Given the description of an element on the screen output the (x, y) to click on. 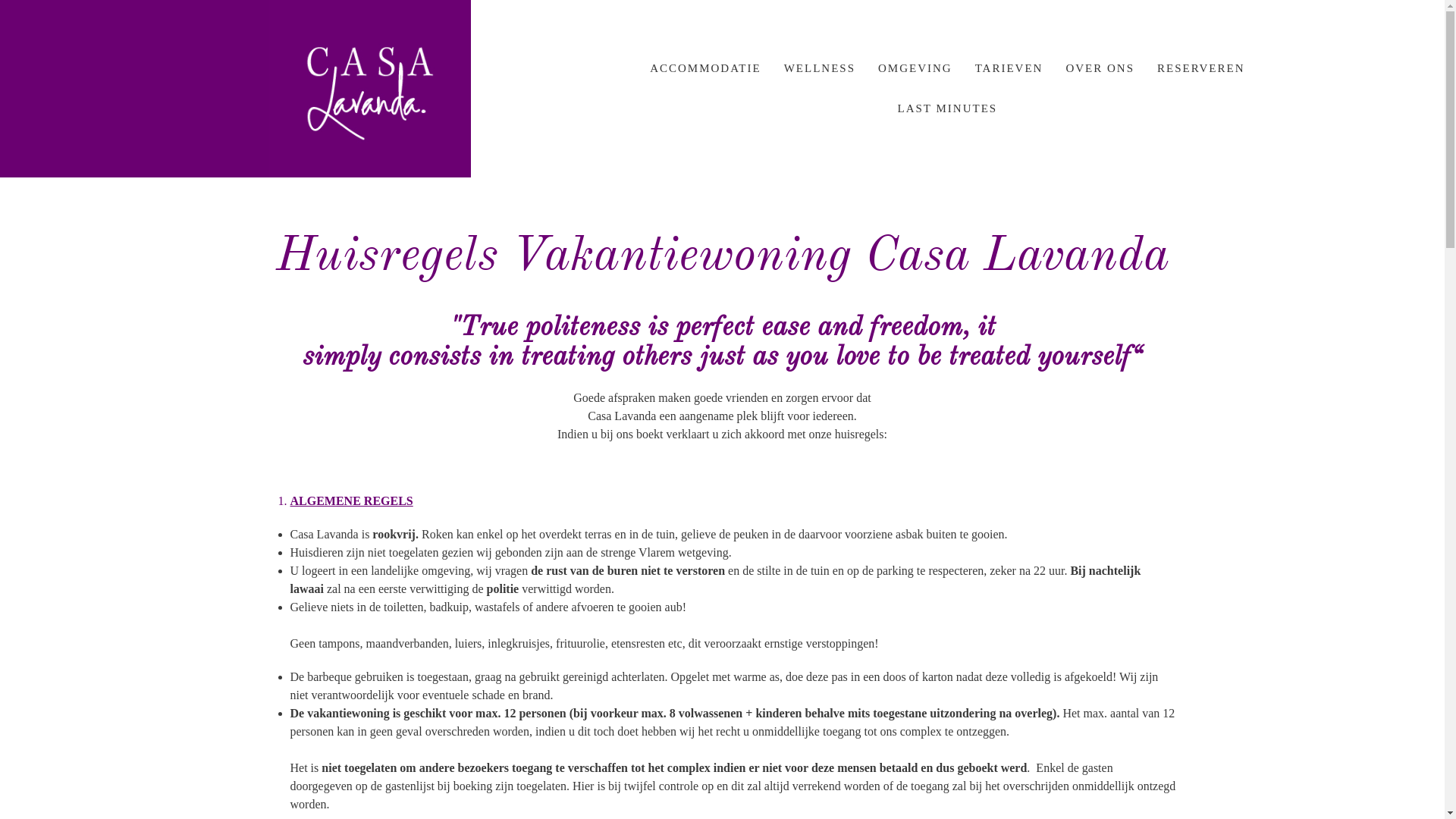
ACCOMMODATIE Element type: text (705, 68)
WELLNESS Element type: text (819, 68)
OMGEVING Element type: text (914, 68)
RESERVEREN Element type: text (1200, 68)
TARIEVEN Element type: text (1008, 68)
LAST MINUTES Element type: text (946, 108)
OVER ONS Element type: text (1099, 68)
